Given the description of an element on the screen output the (x, y) to click on. 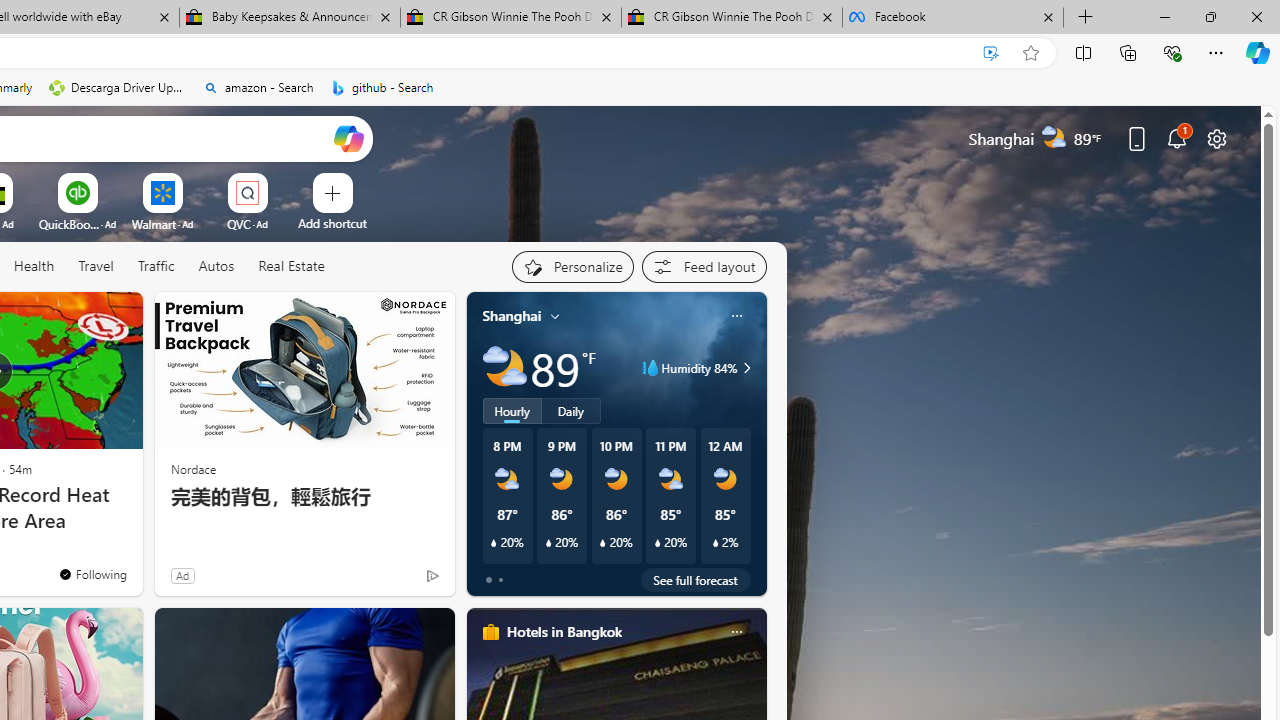
See full forecast (695, 579)
Copilot (Ctrl+Shift+.) (1258, 52)
